Given the description of an element on the screen output the (x, y) to click on. 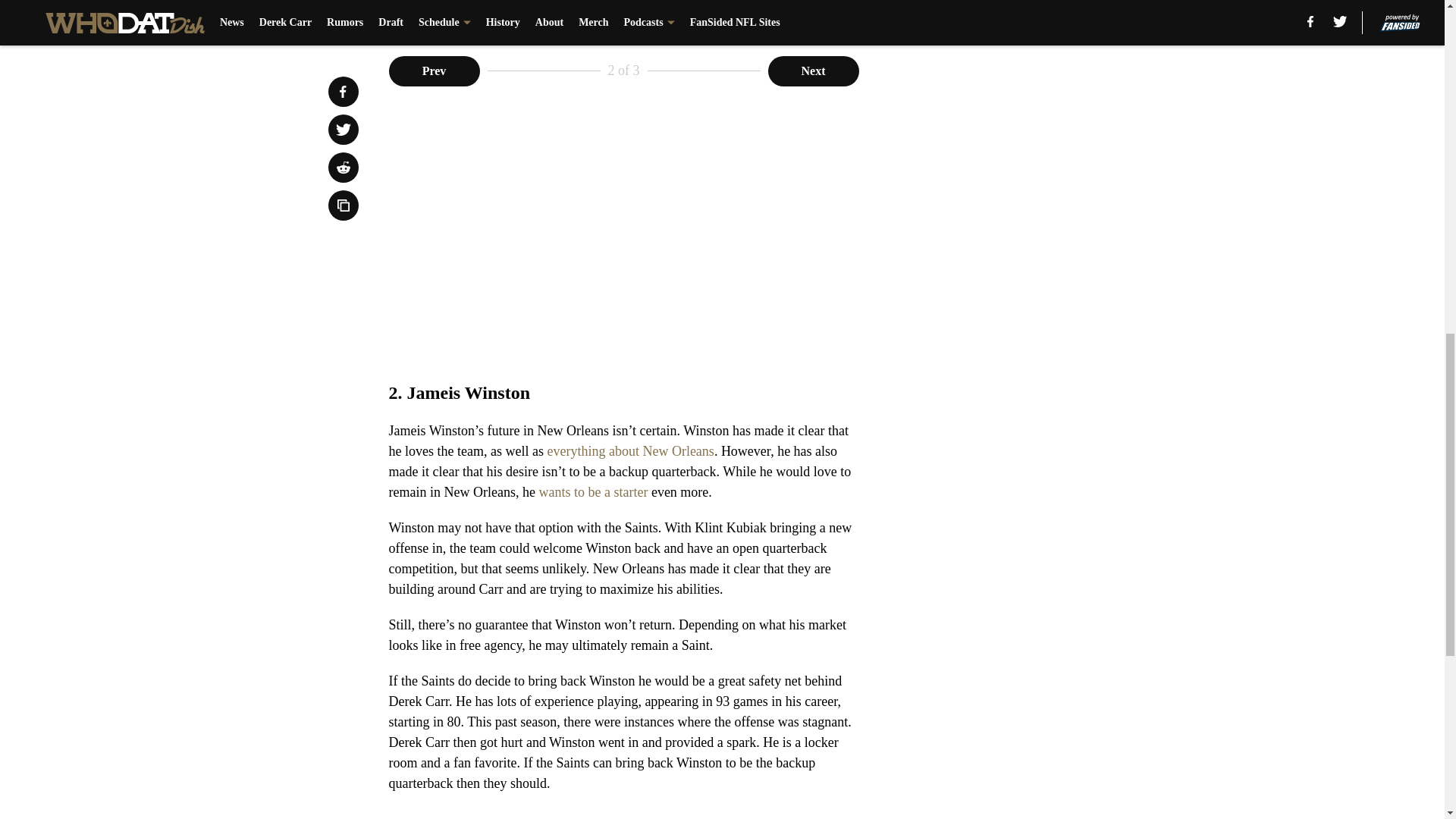
wants to be a starter (592, 491)
Next (813, 71)
everything about New Orleans (630, 450)
Prev (433, 71)
